Given the description of an element on the screen output the (x, y) to click on. 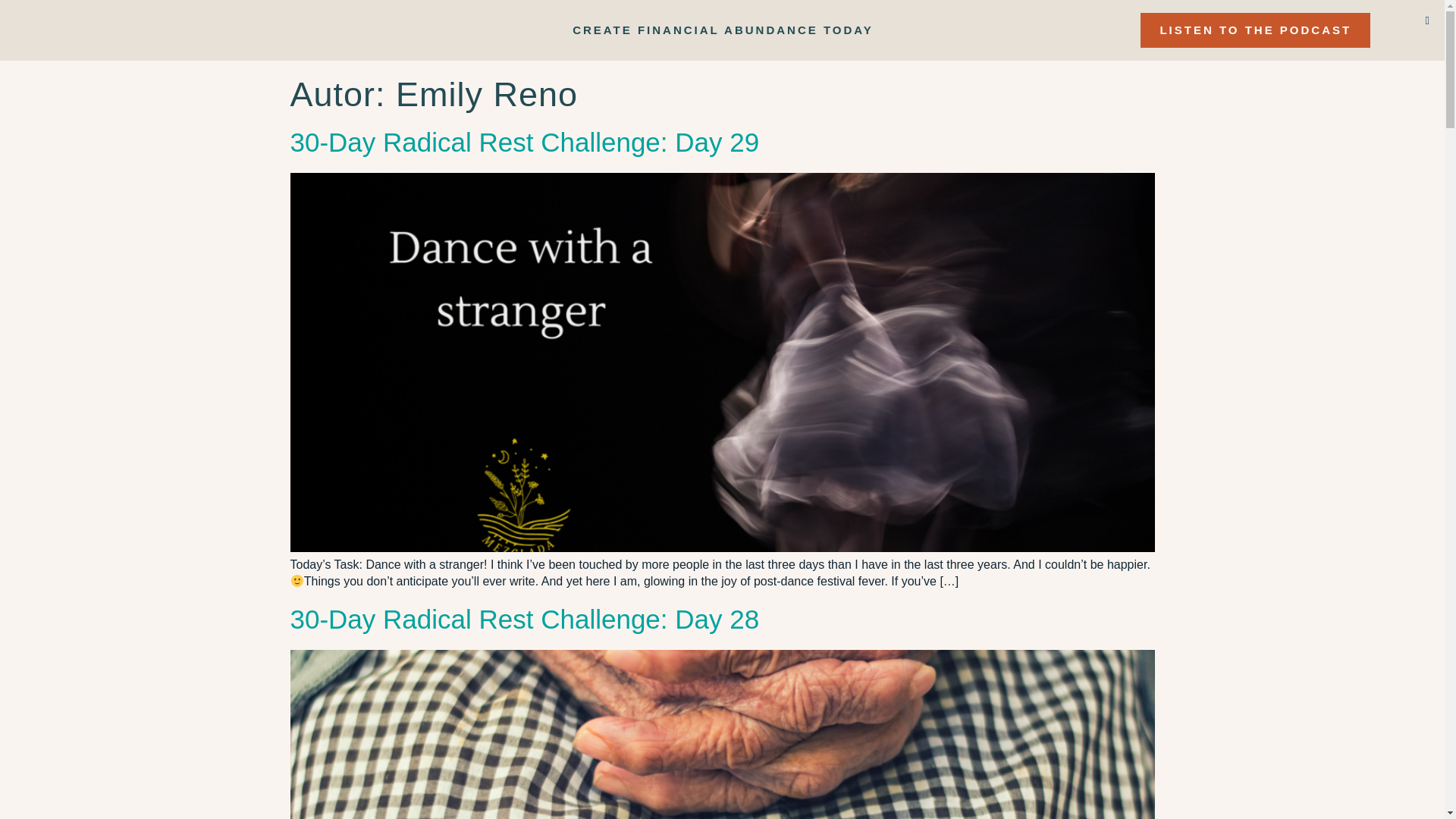
HOGAR (809, 37)
ES (1190, 37)
SOBRE (892, 37)
SERVICIOS (991, 37)
CONECTAR (1101, 37)
